Given the description of an element on the screen output the (x, y) to click on. 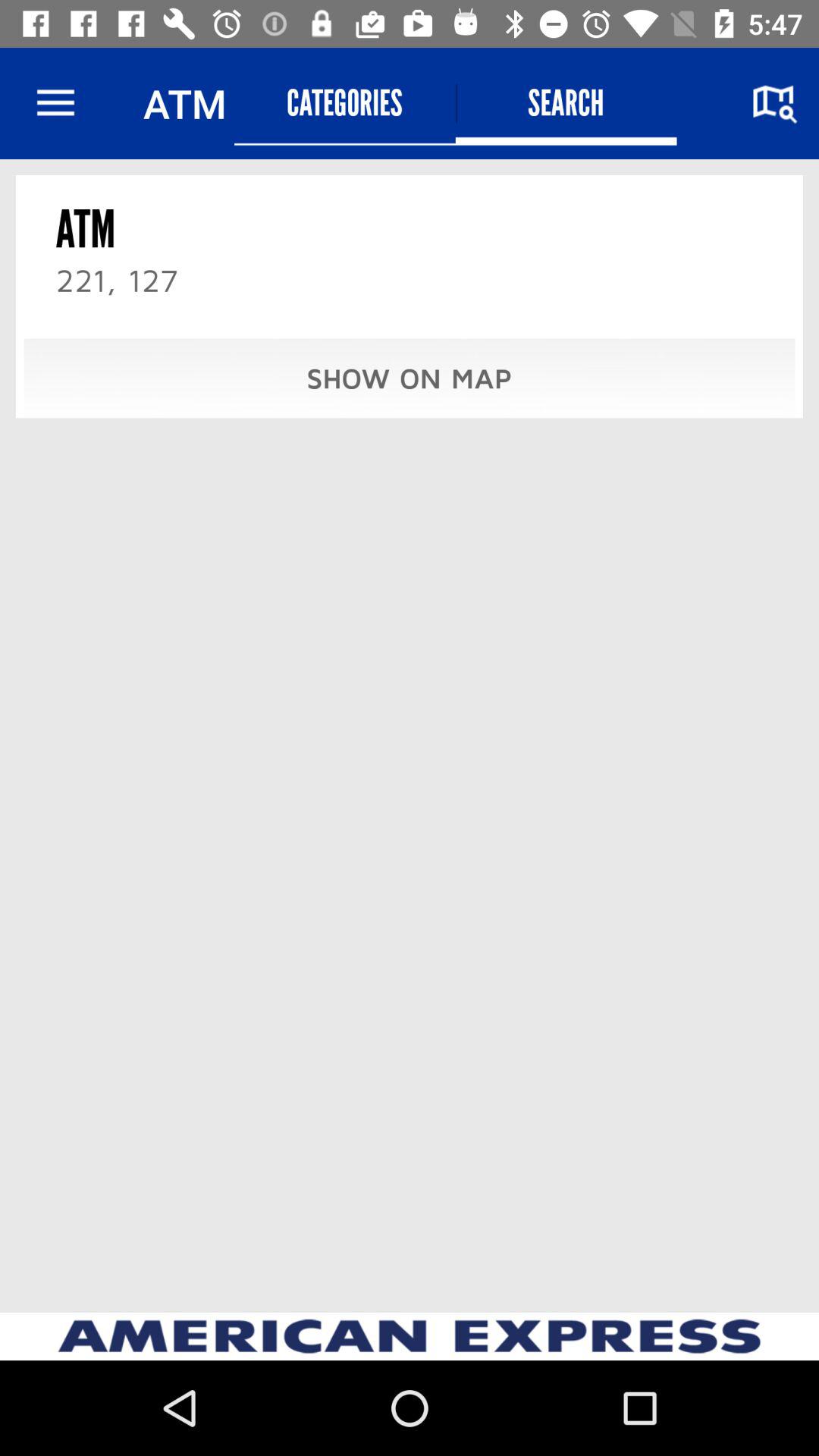
select item above the atm item (55, 103)
